Given the description of an element on the screen output the (x, y) to click on. 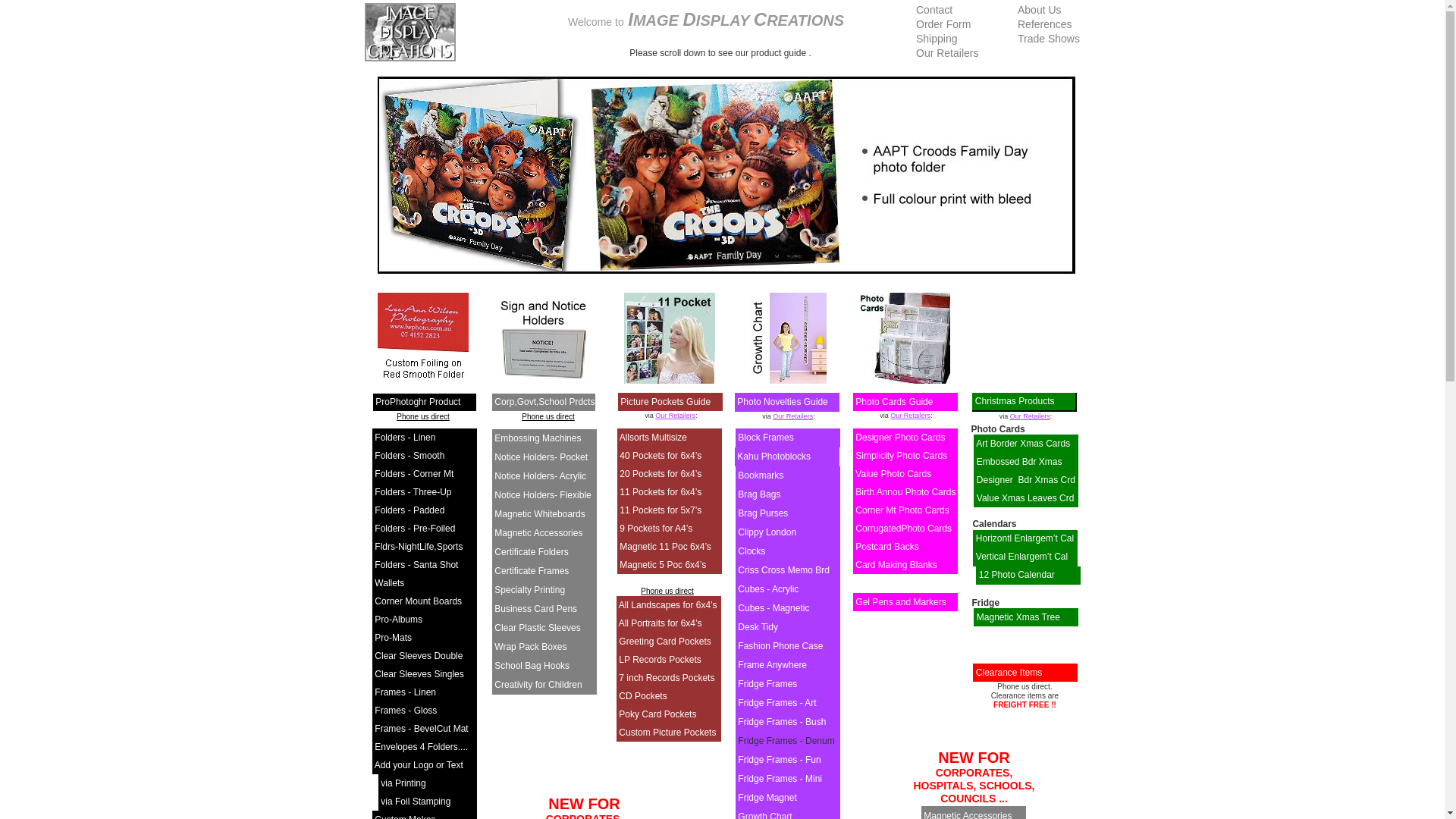
Value Xmas Leaves Crd Element type: text (1025, 497)
Folders - Smooth Element type: text (409, 455)
Fridge Frames - Mini Element type: text (779, 778)
Wallets Element type: text (389, 582)
Folders - Corner Mt Element type: text (413, 473)
Clearance Items Element type: text (1008, 672)
Folders - Three-Up Element type: text (412, 491)
Folders - Padded Element type: text (409, 510)
Greeting Card Pockets Element type: text (664, 641)
Brag Purses Element type: text (762, 513)
LP Records Pockets Element type: text (659, 659)
Add your Logo or Text Element type: text (418, 764)
Kahu Photoblocks Element type: text (773, 456)
Our Retailers Element type: text (910, 415)
Notice Holders- Acrylic Element type: text (540, 475)
Envelopes 4 Folders.... Element type: text (420, 746)
Specialty Printing Element type: text (529, 589)
Creativity for Children Element type: text (537, 684)
Folders - Santa Shot Element type: text (416, 564)
Clear Sleeves Singles Element type: text (418, 673)
Frame Anywhere Element type: text (771, 664)
Wrap Pack Boxes Element type: text (530, 646)
Our Retailers Element type: text (792, 416)
Cubes - Magnetic Element type: text (773, 607)
Criss Cross Memo Brd Element type: text (783, 569)
Allsorts Multisize Element type: text (653, 437)
via Printing Element type: text (402, 783)
Christmas Products Element type: text (1014, 400)
Our Retailers Element type: text (1030, 416)
Postcard Backs Element type: text (886, 546)
Order Form Element type: text (943, 24)
Corp,Govt,School Prdcts Element type: text (544, 401)
CorrugatedPhoto Cards Element type: text (903, 528)
Clocks Element type: text (751, 551)
Fridge Frames - Fun Element type: text (778, 759)
Fridge Frames - Bush Element type: text (781, 721)
Frames - Linen Element type: text (405, 692)
Cubes - Acrylic Element type: text (767, 588)
Clear Plastic Sleeves Element type: text (537, 627)
Embossing Machines Element type: text (537, 438)
Certificate Frames Element type: text (531, 570)
ProPhotoghr Product Element type: text (417, 401)
Frames - BevelCut Mat Element type: text (420, 728)
Magnetic Accessories Element type: text (538, 532)
Our Retailers Element type: text (675, 415)
Clear Sleeves Double Element type: text (418, 655)
Custom Picture Pockets Element type: text (666, 732)
Picture Pockets Guide Element type: text (665, 401)
Fridge Frames Element type: text (767, 683)
12 Photo Calendar Element type: text (1016, 574)
Gel Pens and Markers Element type: text (900, 601)
Block Frames Element type: text (765, 437)
References Element type: text (1044, 24)
Pro-Albums Element type: text (398, 619)
Card Making Blanks Element type: text (895, 564)
Designer  Bdr Xmas Crd Element type: text (1025, 479)
Notice Holders- Flexible Element type: text (542, 494)
Designer Photo Cards Element type: text (899, 437)
Our Retailers Element type: text (947, 53)
Magnetic Whiteboards Element type: text (539, 513)
7 inch Records Pockets Element type: text (666, 677)
Embossed Bdr Xmas Element type: text (1019, 461)
Fldrs-NightLife,Sports Element type: text (418, 546)
Corner Mt Photo Cards Element type: text (901, 510)
Art Border Xmas Cards Element type: text (1022, 443)
Folders - Linen Element type: text (404, 437)
Brag Bags Element type: text (758, 494)
Poky Card Pockets Element type: text (657, 714)
Business Card Pens Element type: text (535, 608)
Value Photo Cards Element type: text (893, 473)
Shipping Element type: text (936, 38)
CD Pockets Element type: text (642, 695)
Photo Cards Guide Element type: text (893, 401)
Simplicity Photo Cards Element type: text (901, 455)
Certificate Folders Element type: text (530, 551)
Phone us direct Element type: text (547, 416)
Fashion Phone Case Element type: text (779, 645)
Phone us direct Element type: text (422, 416)
Notice Holders- Pocket Element type: text (540, 456)
Photo Novelties Guide Element type: text (782, 401)
Desk Tidy Element type: text (757, 626)
Clippy London Element type: text (766, 532)
Fridge Magnet Element type: text (766, 797)
Contact Element type: text (934, 9)
Custom Photo Folder Element type: hover (726, 174)
Frames - Gloss Element type: text (405, 710)
Bookmarks Element type: text (760, 475)
via Foil Stamping Element type: text (415, 801)
School Bag Hooks Element type: text (531, 665)
Pro-Mats Element type: text (392, 637)
Birth Annou Photo Cards Element type: text (905, 491)
About Us Element type: text (1039, 9)
Folders - Pre-Foiled Element type: text (414, 528)
Phone us direct Element type: text (666, 590)
Corner Mount Boards Element type: text (417, 601)
Trade Shows Element type: text (1048, 38)
Magnetic Xmas Tree Element type: text (1018, 616)
Fridge Frames - Art Element type: text (776, 702)
